Given the description of an element on the screen output the (x, y) to click on. 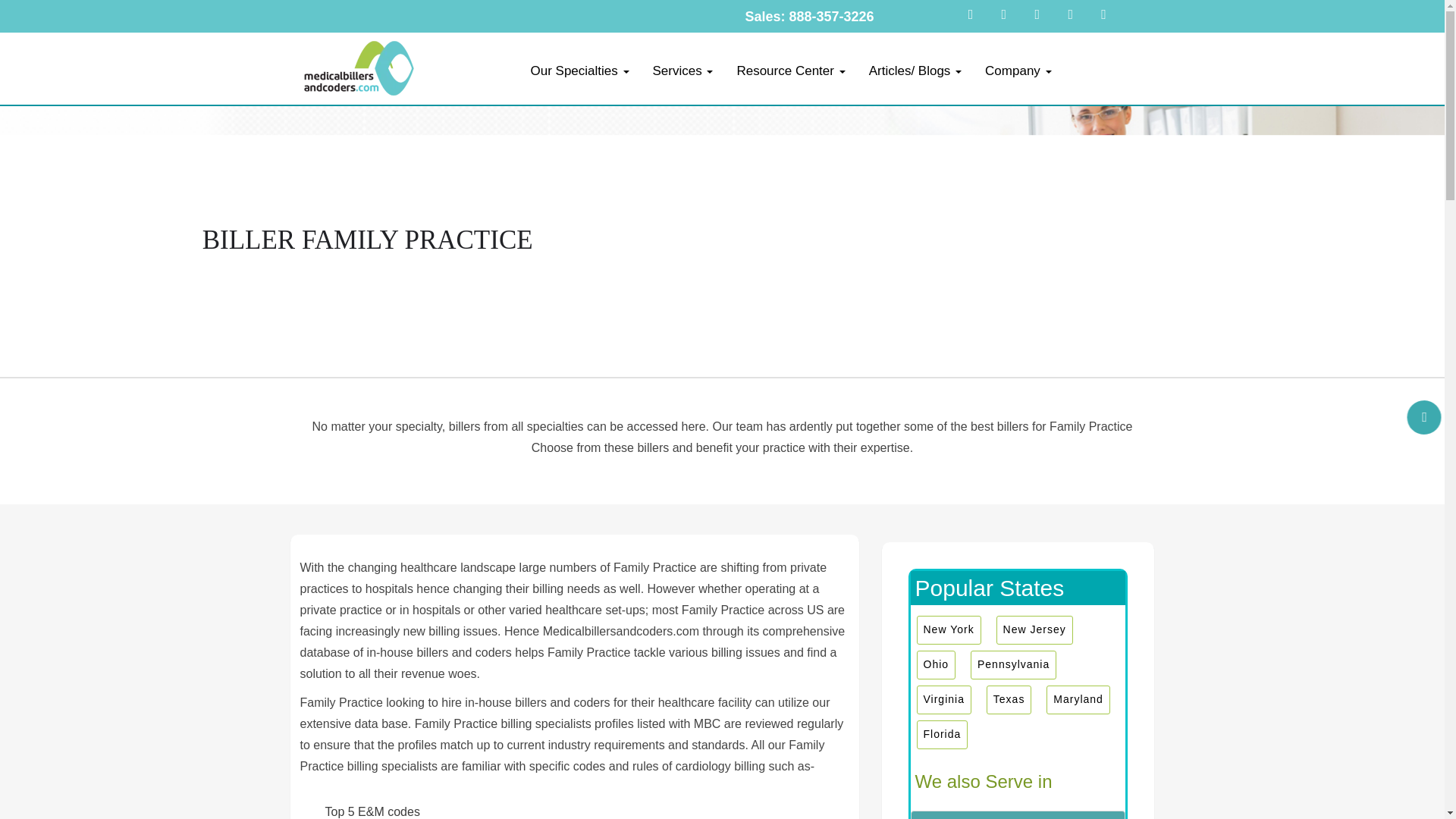
Our Specialties (579, 71)
Services (681, 71)
Sales: 888-357-3226 (808, 16)
